Given the description of an element on the screen output the (x, y) to click on. 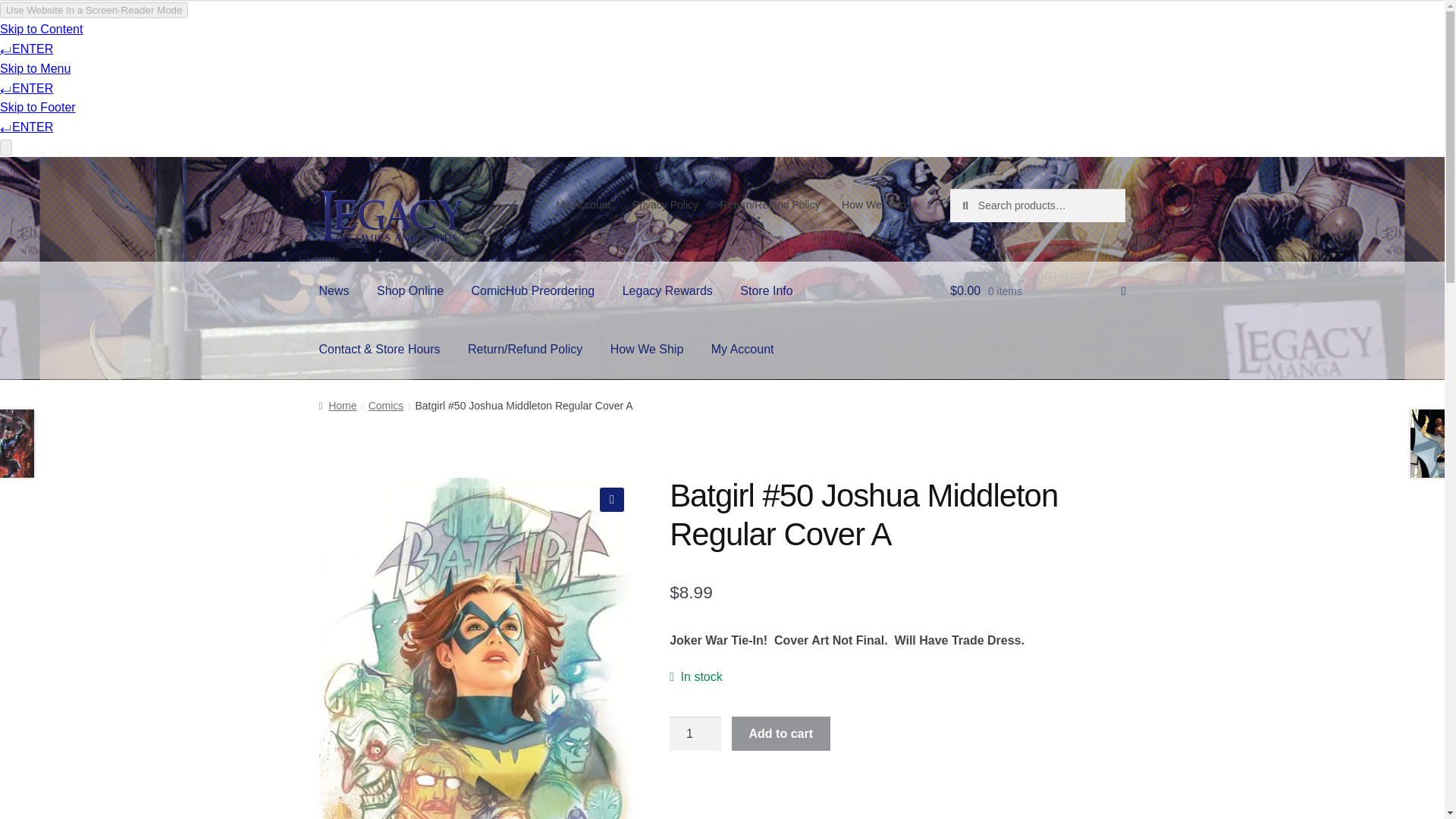
1 (694, 733)
PayPal Message 1 (897, 791)
My Account (583, 204)
Privacy Policy (665, 204)
ComicHub Preordering (533, 291)
Home (337, 405)
My Account (742, 349)
Store Info (766, 291)
Comics (386, 405)
View your shopping cart (1037, 291)
How We Ship (646, 349)
How We Ship (873, 204)
Shop Online (410, 291)
